Given the description of an element on the screen output the (x, y) to click on. 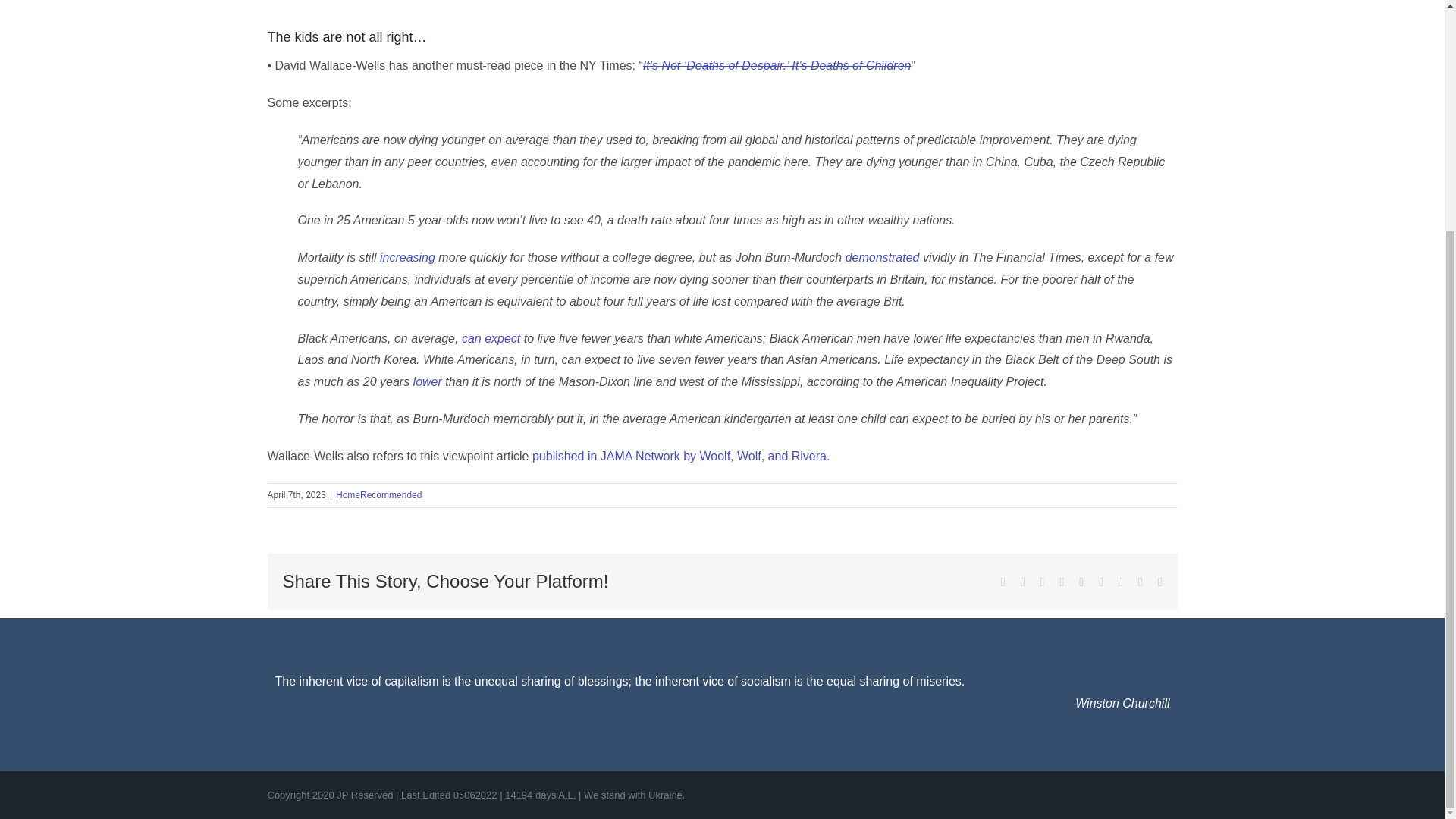
published in JAMA Network by Woolf, Wolf, and Rivera. (680, 455)
demonstrated (882, 256)
can expect (490, 338)
lower (427, 381)
increasing (407, 256)
